Given the description of an element on the screen output the (x, y) to click on. 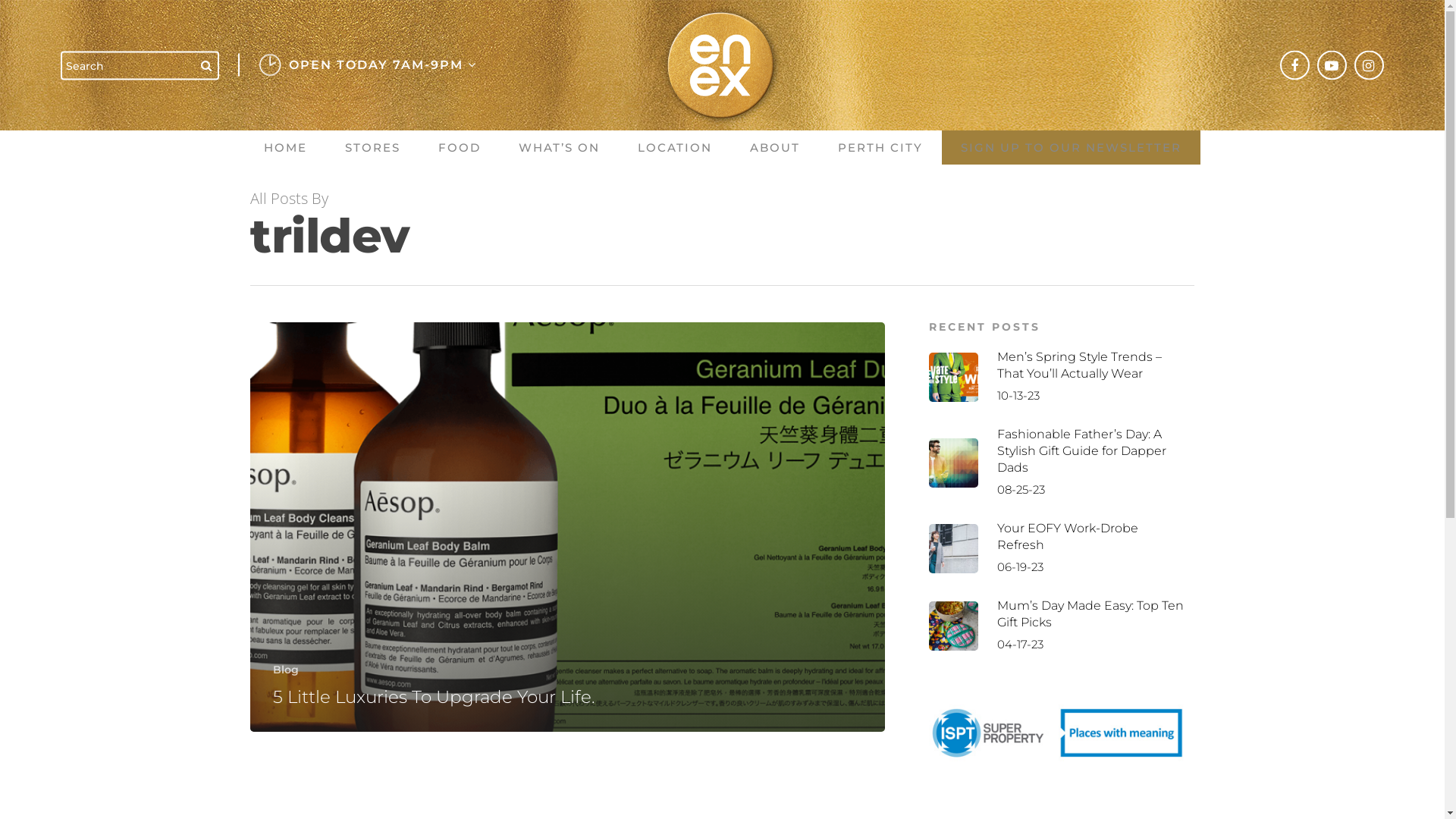
ABOUT Element type: text (775, 147)
PERTH CITY Element type: text (880, 147)
OPEN TODAY 7AM-9PM Element type: text (378, 65)
SIGN UP TO OUR NEWSLETTER Element type: text (1070, 147)
LOCATION Element type: text (674, 147)
HOME Element type: text (284, 147)
STORES Element type: text (372, 147)
5 Little Luxuries To Upgrade Your Life. Element type: text (434, 696)
FOOD Element type: text (458, 147)
Your EOFY Work-Drobe Refresh
06-19-23 Element type: text (1058, 548)
Blog Element type: text (285, 669)
